Given the description of an element on the screen output the (x, y) to click on. 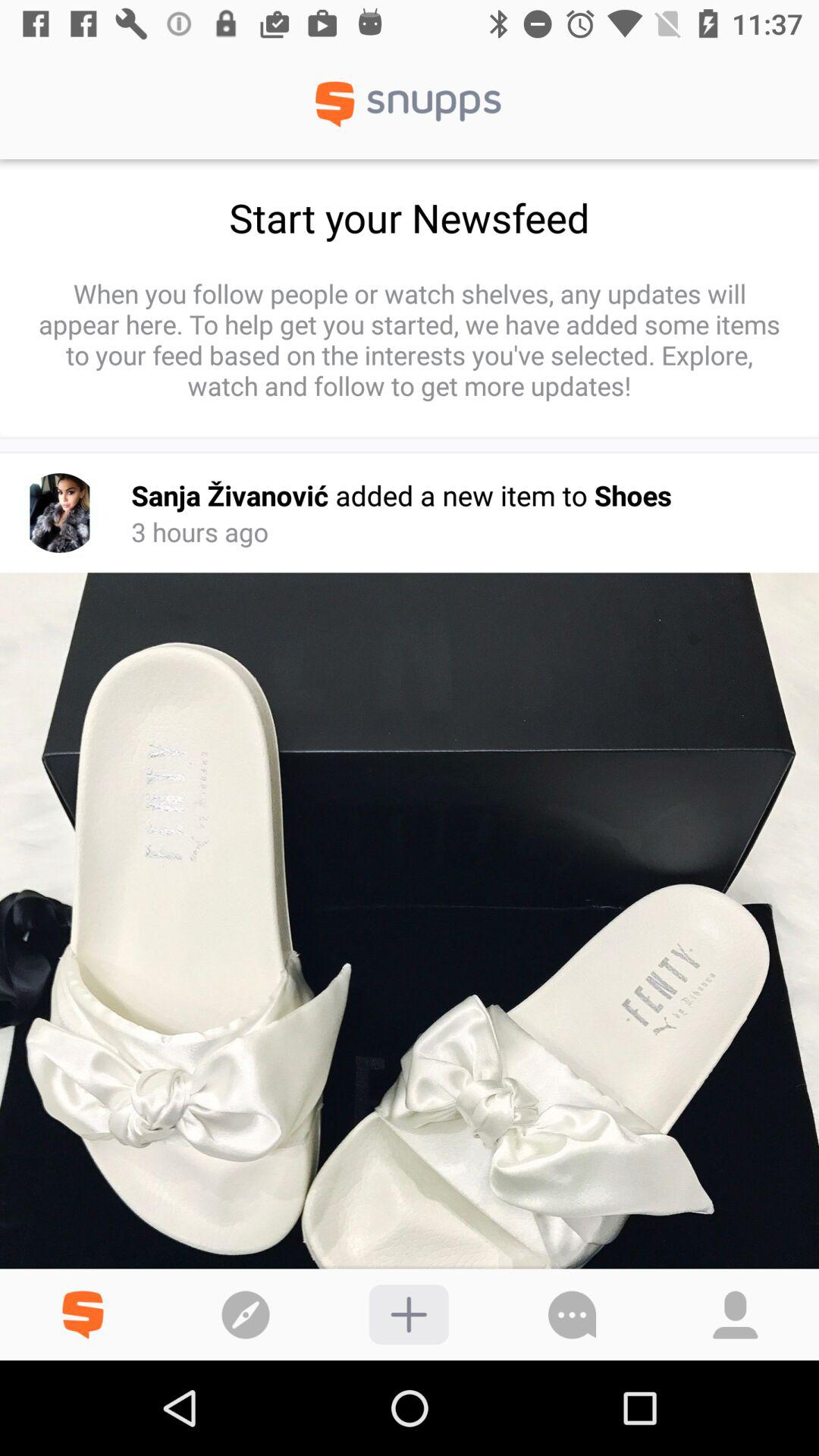
add what we want like photos (408, 1314)
